Given the description of an element on the screen output the (x, y) to click on. 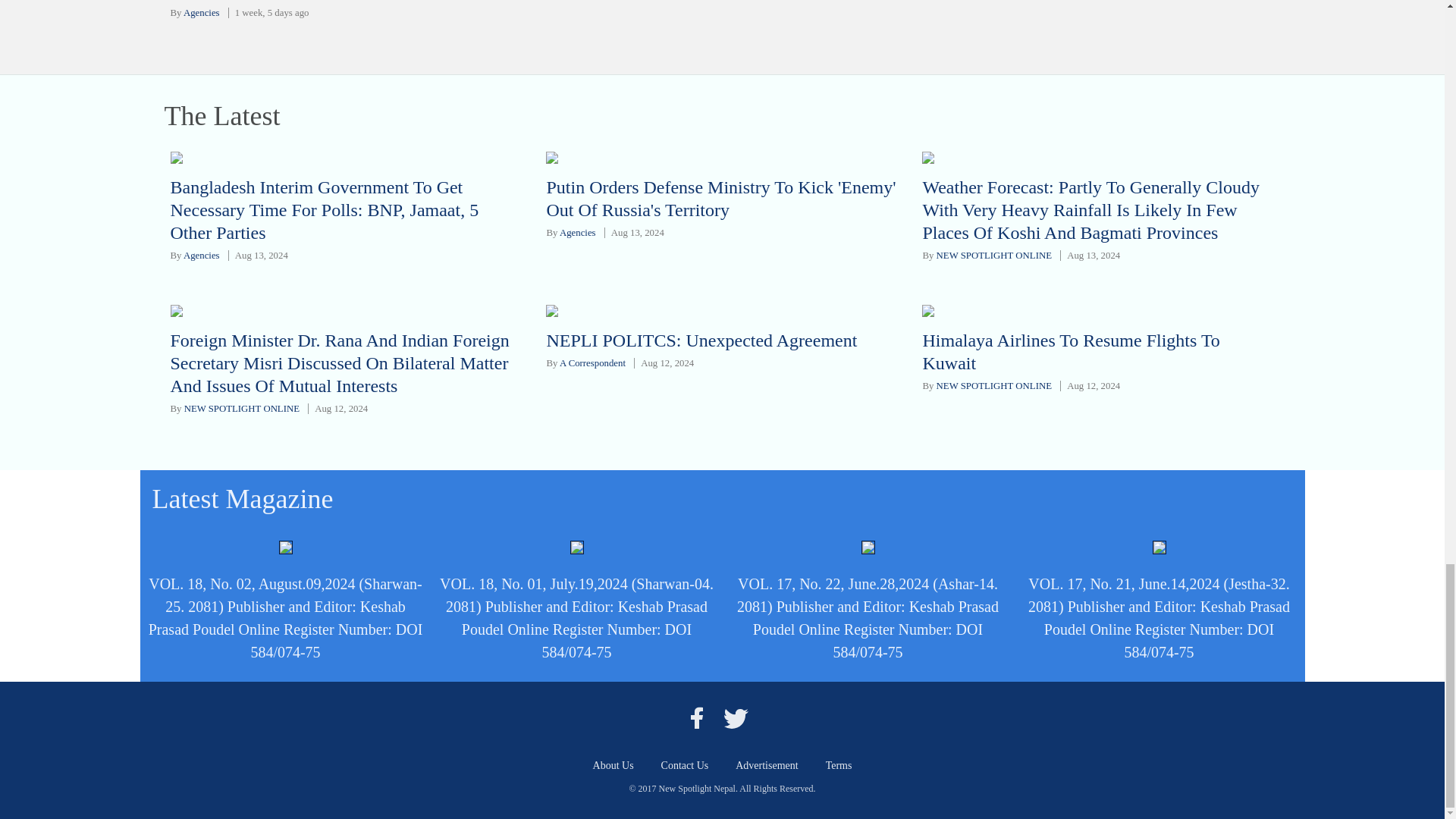
twitter icon (735, 717)
Spotlight Nepal Twitter (735, 717)
Agencies (201, 12)
facebook icon (695, 717)
Spotlight Nepal Facebook (695, 717)
